Given the description of an element on the screen output the (x, y) to click on. 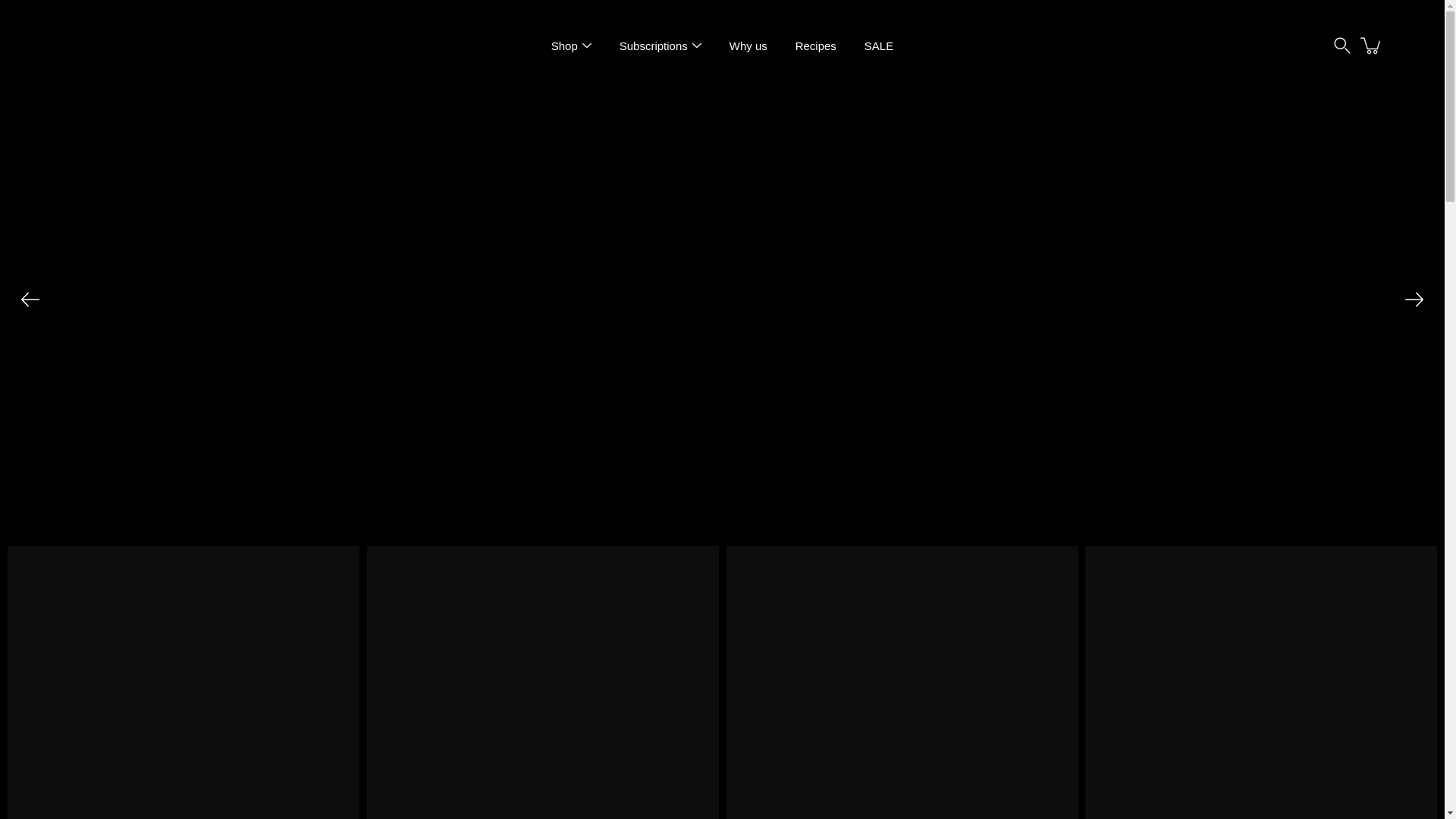
Search (1342, 45)
Smoothie Blend Red Queen - from strawberries, beetroots (542, 682)
Glow Smoothie Blend - from bananas, blackberries (902, 682)
Why us (748, 45)
SALE (878, 45)
Shop (564, 45)
Rainbow Smoothie Box - 9 unique smoothie blends (183, 682)
Subscriptions (653, 45)
Recipes (814, 45)
